Given the description of an element on the screen output the (x, y) to click on. 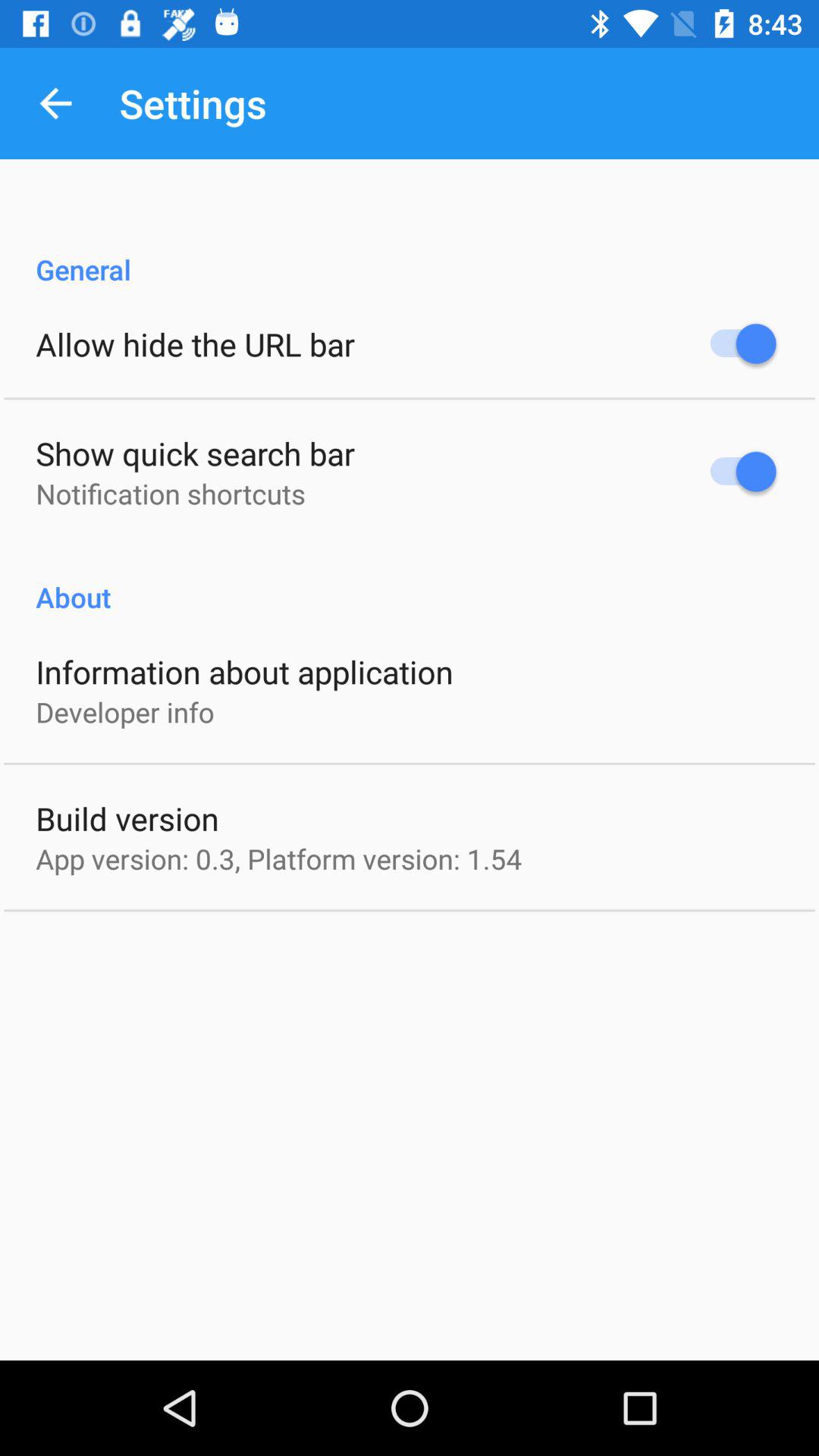
choose icon above the build version icon (124, 711)
